Given the description of an element on the screen output the (x, y) to click on. 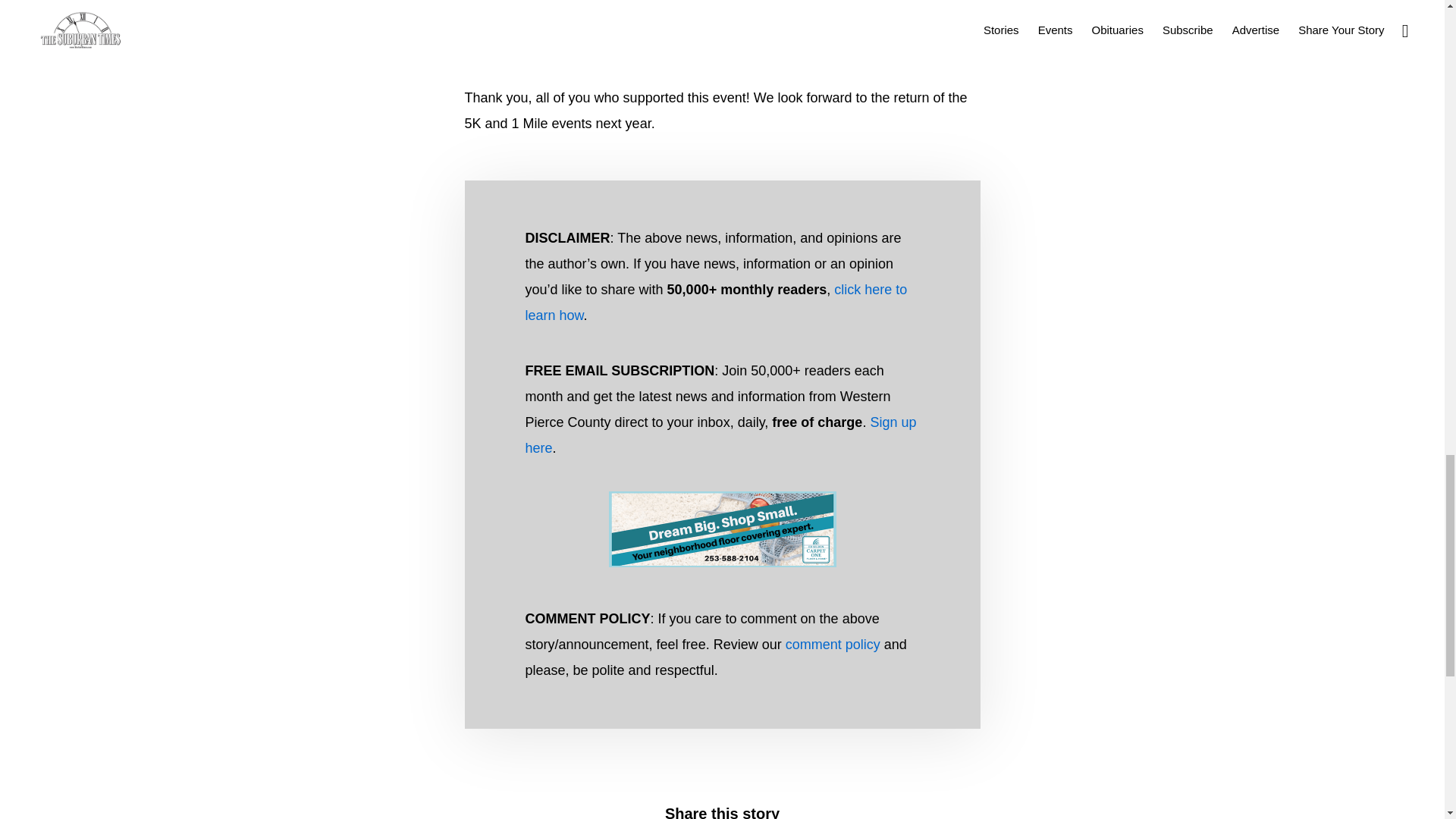
comment policy (833, 644)
click here to learn how (715, 301)
Sign up here (719, 434)
